Given the description of an element on the screen output the (x, y) to click on. 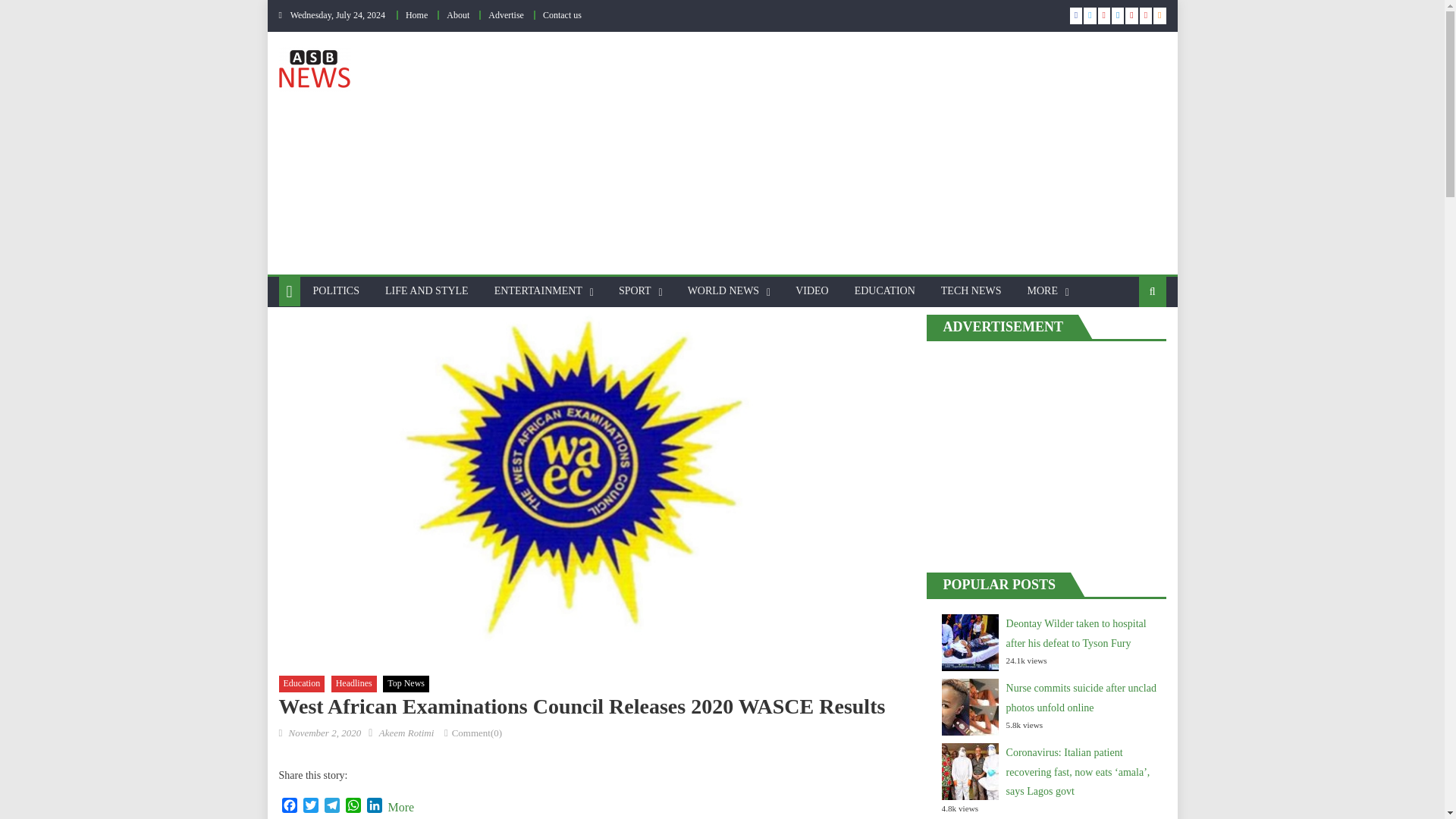
Facebook (289, 806)
Contact us (561, 14)
About (457, 14)
Twitter (310, 806)
WhatsApp (353, 806)
WORLD NEWS (724, 290)
Facebook (289, 806)
POLITICS (336, 290)
ENTERTAINMENT (538, 290)
Advertisement (890, 152)
Advertise (505, 14)
VIDEO (812, 290)
LinkedIn (374, 806)
MORE (1042, 290)
